Given the description of an element on the screen output the (x, y) to click on. 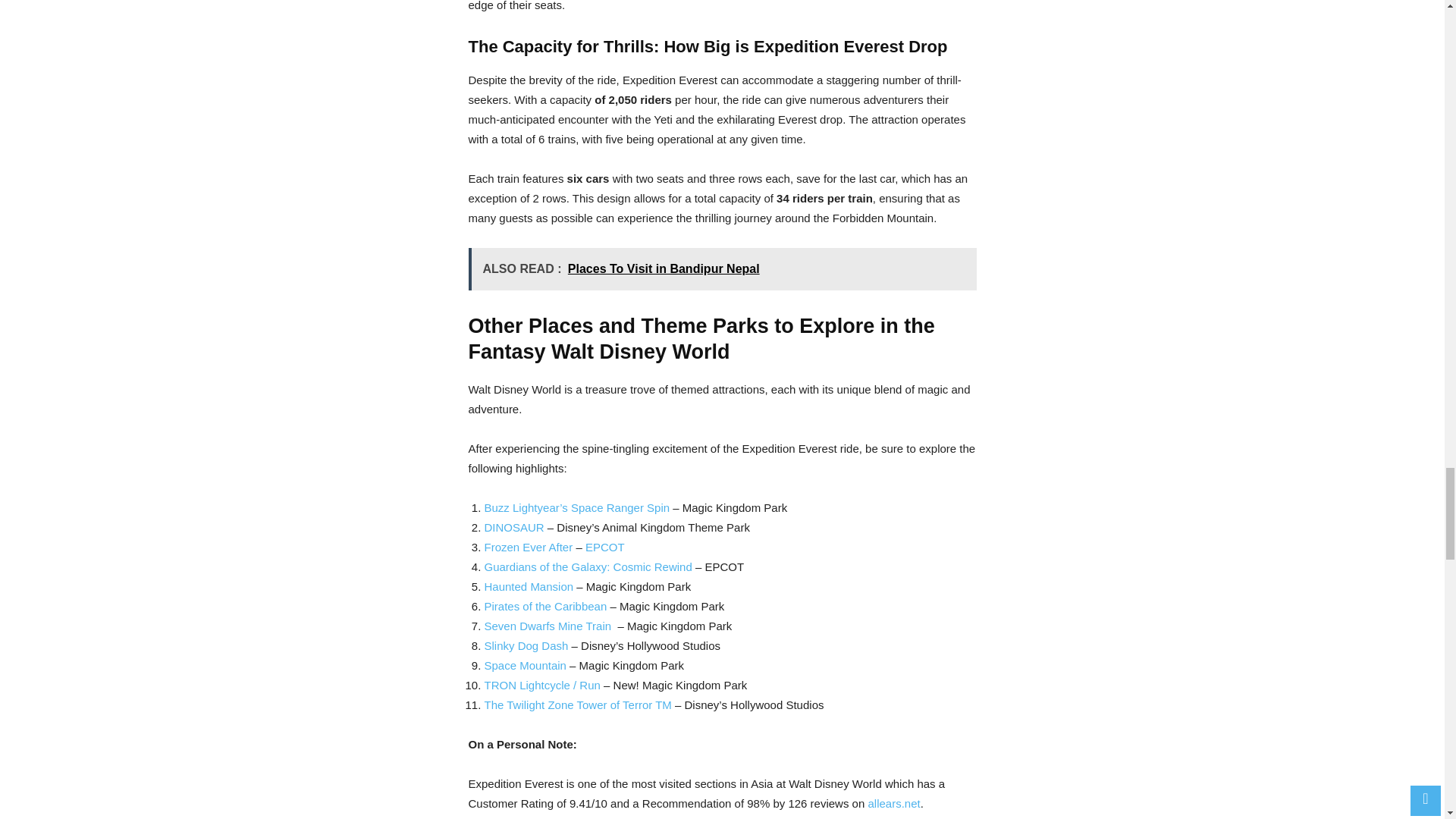
ALSO READ :  Places To Visit in Bandipur Nepal (722, 269)
